Given the description of an element on the screen output the (x, y) to click on. 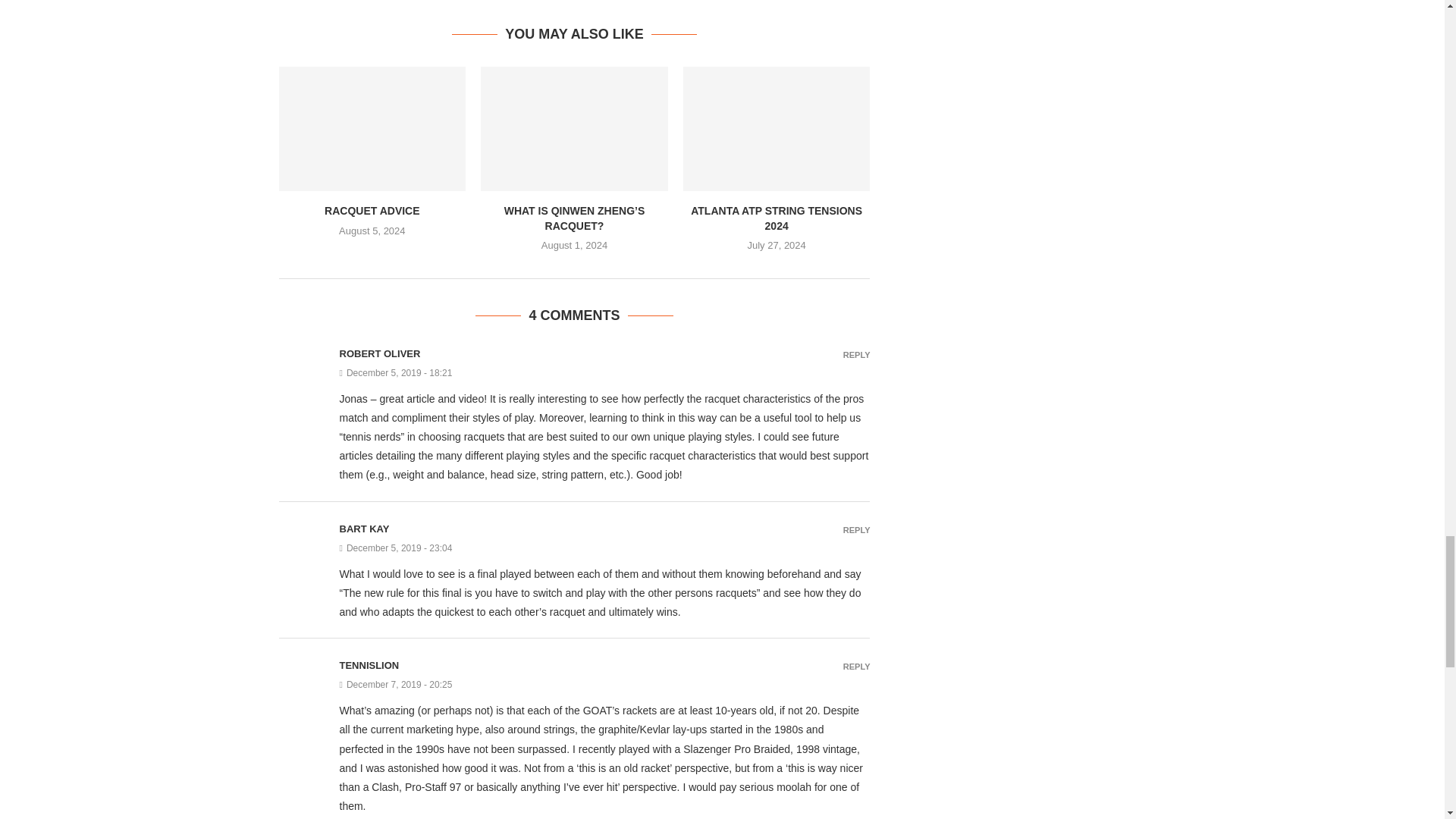
Thursday, December 5, 2019, 11:04 pm (604, 547)
Thursday, December 5, 2019, 6:21 pm (604, 372)
Atlanta ATP String Tensions 2024 (776, 128)
Racquet advice (372, 128)
Saturday, December 7, 2019, 8:25 pm (604, 684)
